Given the description of an element on the screen output the (x, y) to click on. 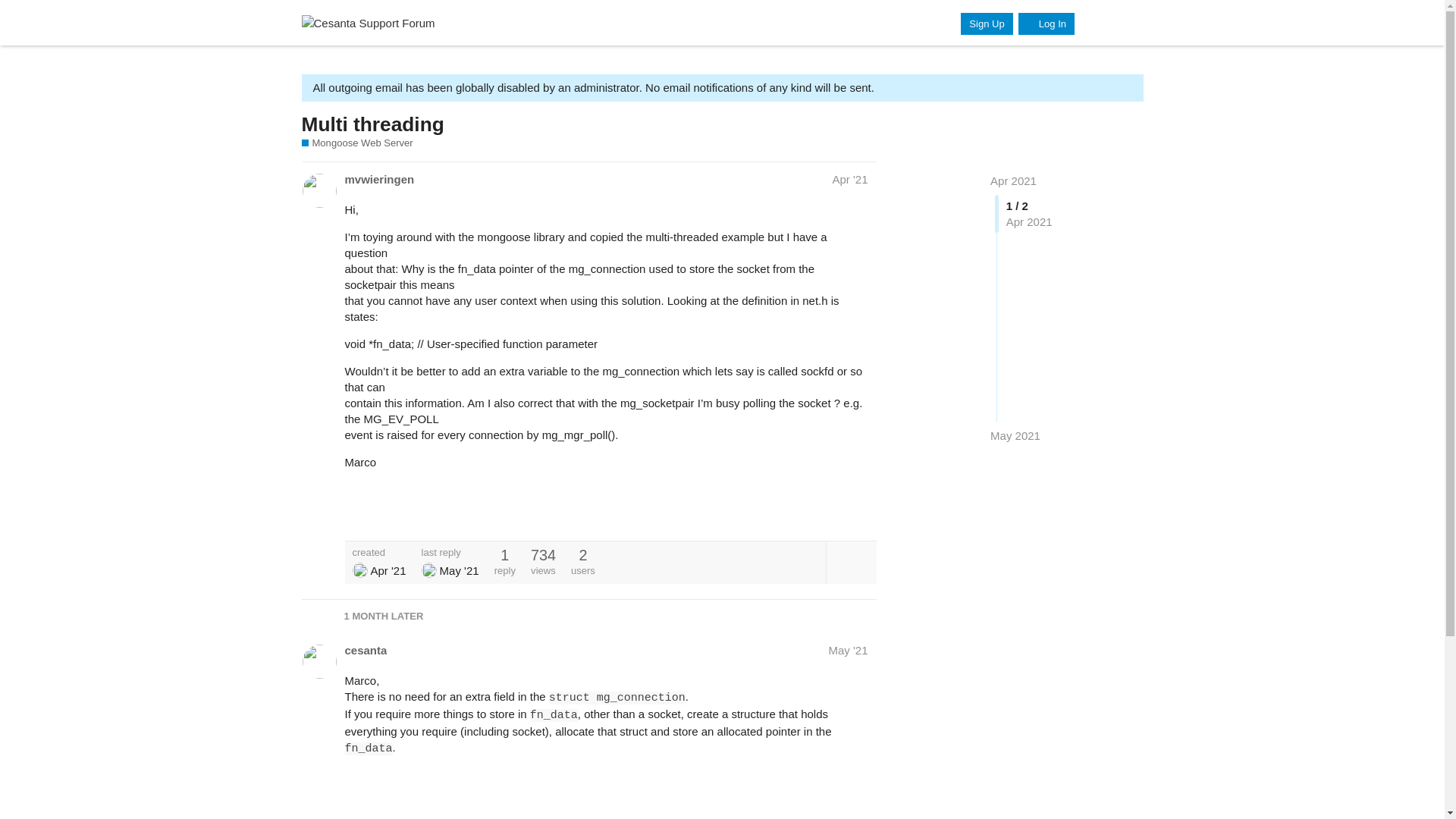
May 3, 2021 10:09 pm (459, 570)
Multi threading (372, 124)
like this post (828, 512)
cesanta (365, 650)
Sign Up (985, 24)
Log In (1045, 24)
Apr 2021 (1013, 180)
share a link to this post (860, 512)
expand topic details (850, 562)
Apr 3, 2021 3:50 pm (387, 570)
last reply (450, 552)
Apr 2021 (1013, 180)
cesanta (429, 570)
May 2021 (1015, 435)
like this post (828, 799)
